Given the description of an element on the screen output the (x, y) to click on. 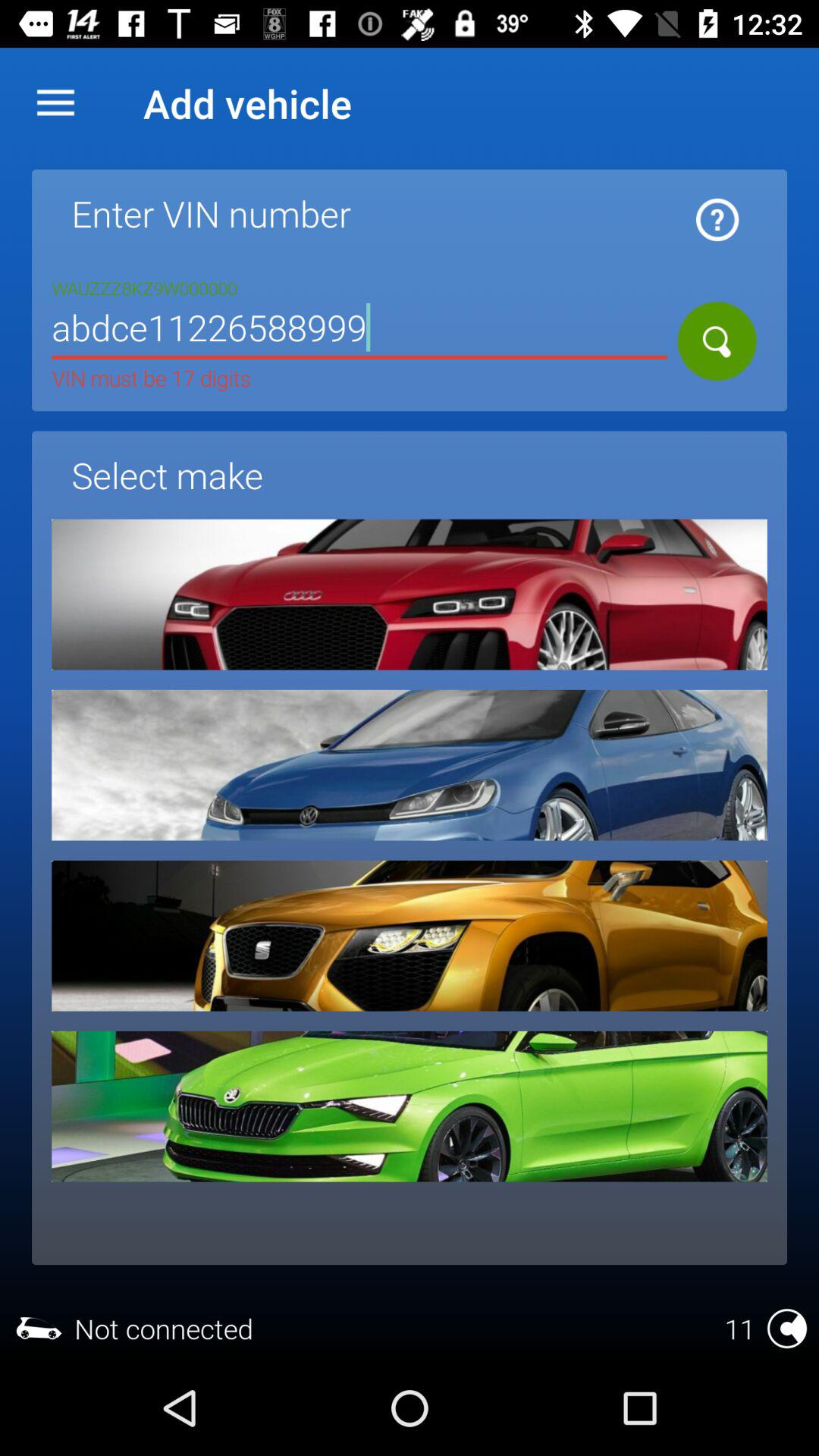
icon next to vin number (717, 219)
